Given the description of an element on the screen output the (x, y) to click on. 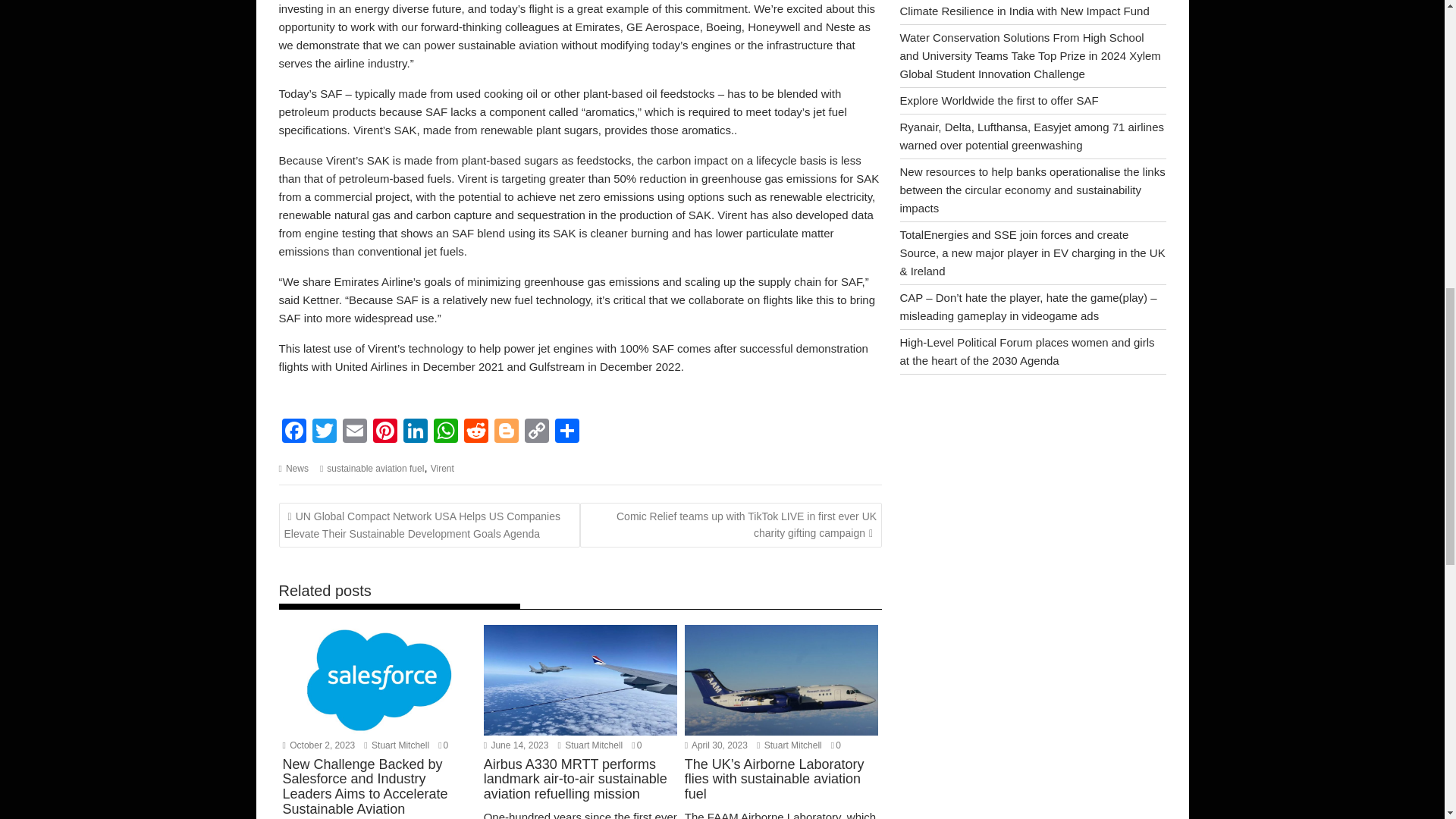
Twitter (323, 432)
Pinterest (384, 432)
Email (354, 432)
Facebook (293, 432)
